Given the description of an element on the screen output the (x, y) to click on. 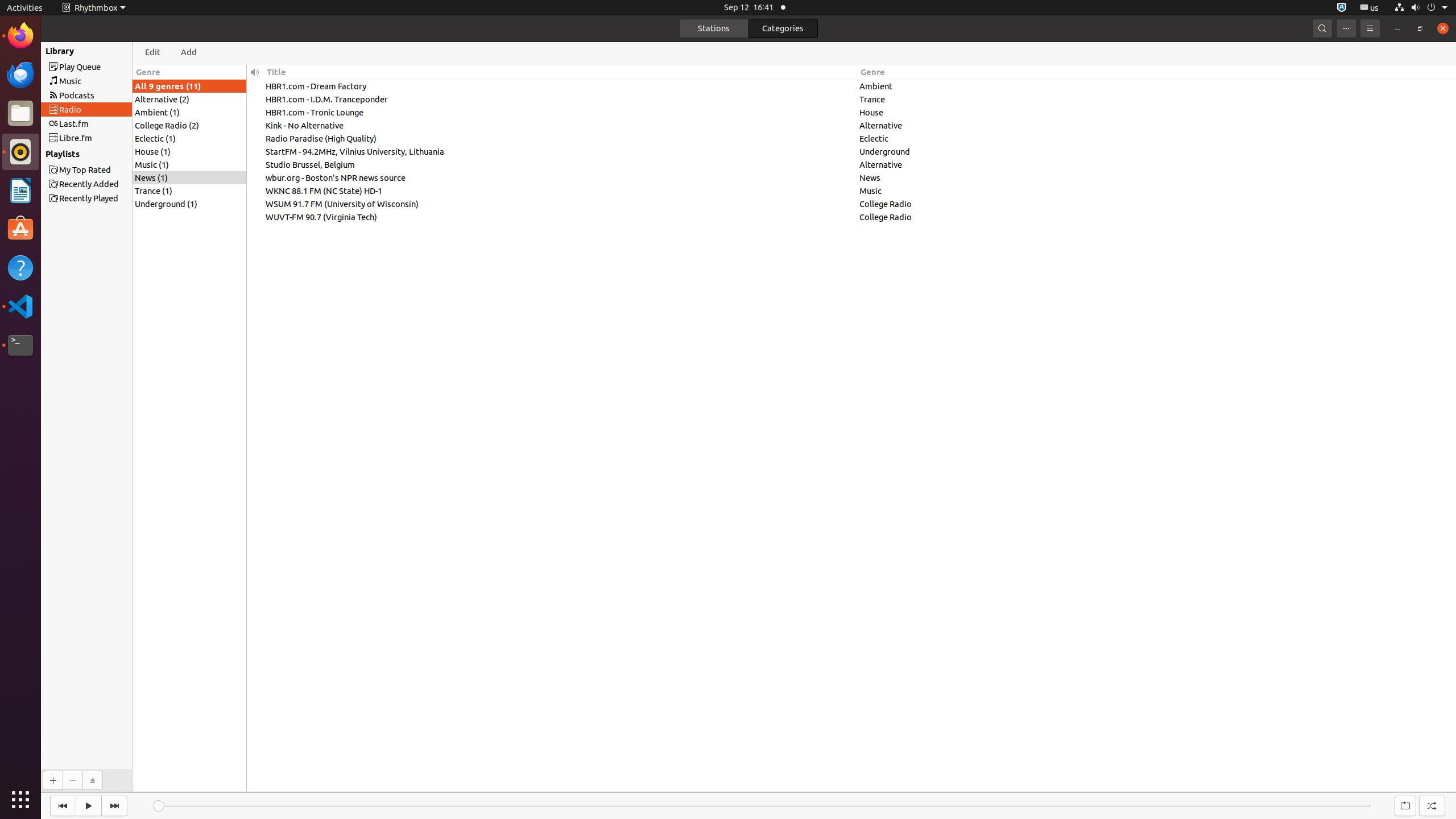
Minimize Element type: push-button (1397, 27)
Firefox Web Browser Element type: push-button (20, 35)
Radio Element type: table-cell (106, 109)
Underground (1) Element type: table-cell (189, 203)
